Given the description of an element on the screen output the (x, y) to click on. 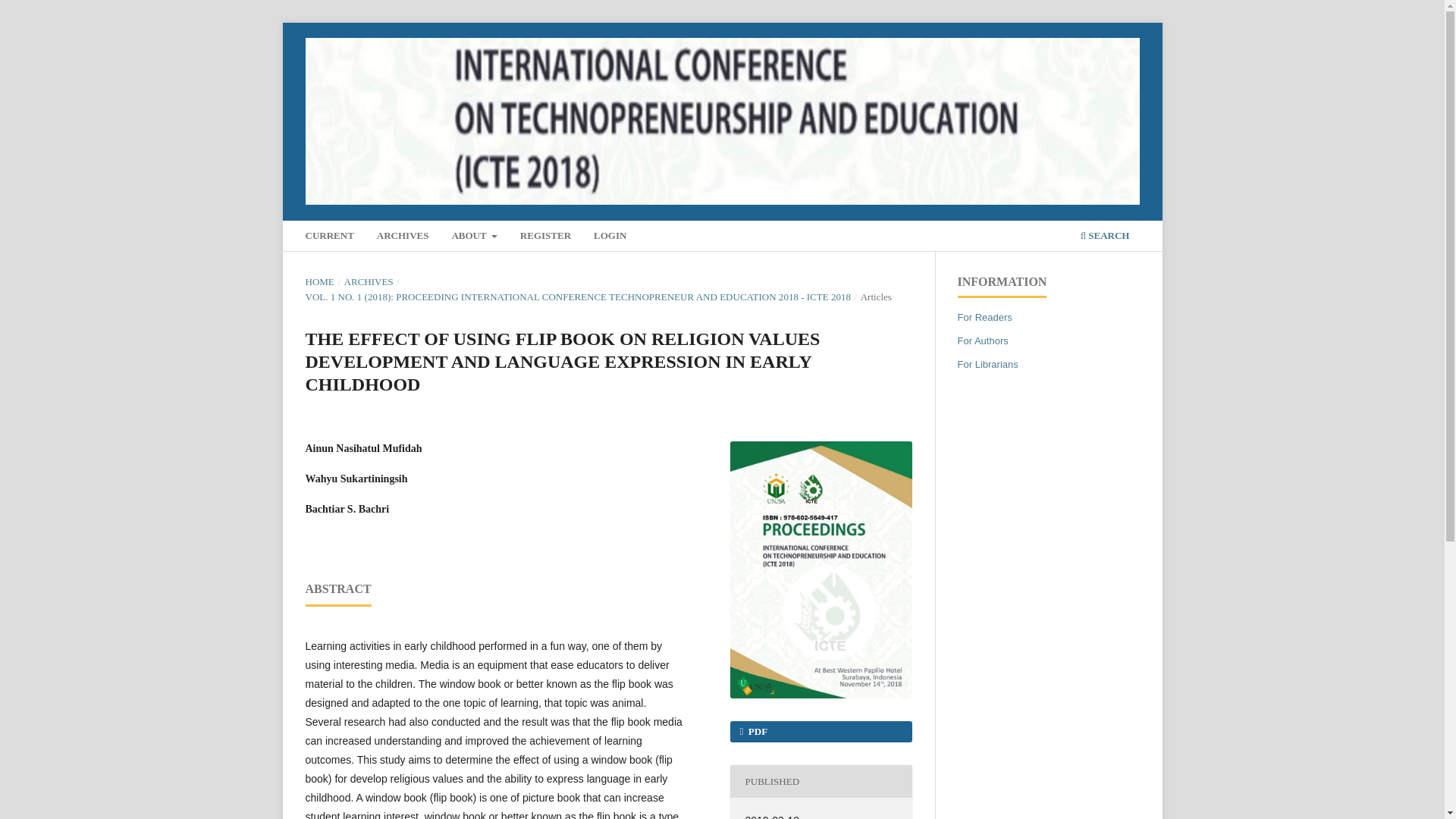
SEARCH (1104, 237)
CURRENT (328, 237)
For Librarians (986, 364)
For Authors (981, 340)
ARCHIVES (402, 237)
HOME (318, 281)
For Readers (983, 317)
LOGIN (609, 237)
REGISTER (545, 237)
PDF (820, 731)
ARCHIVES (368, 281)
ABOUT (474, 237)
